Given the description of an element on the screen output the (x, y) to click on. 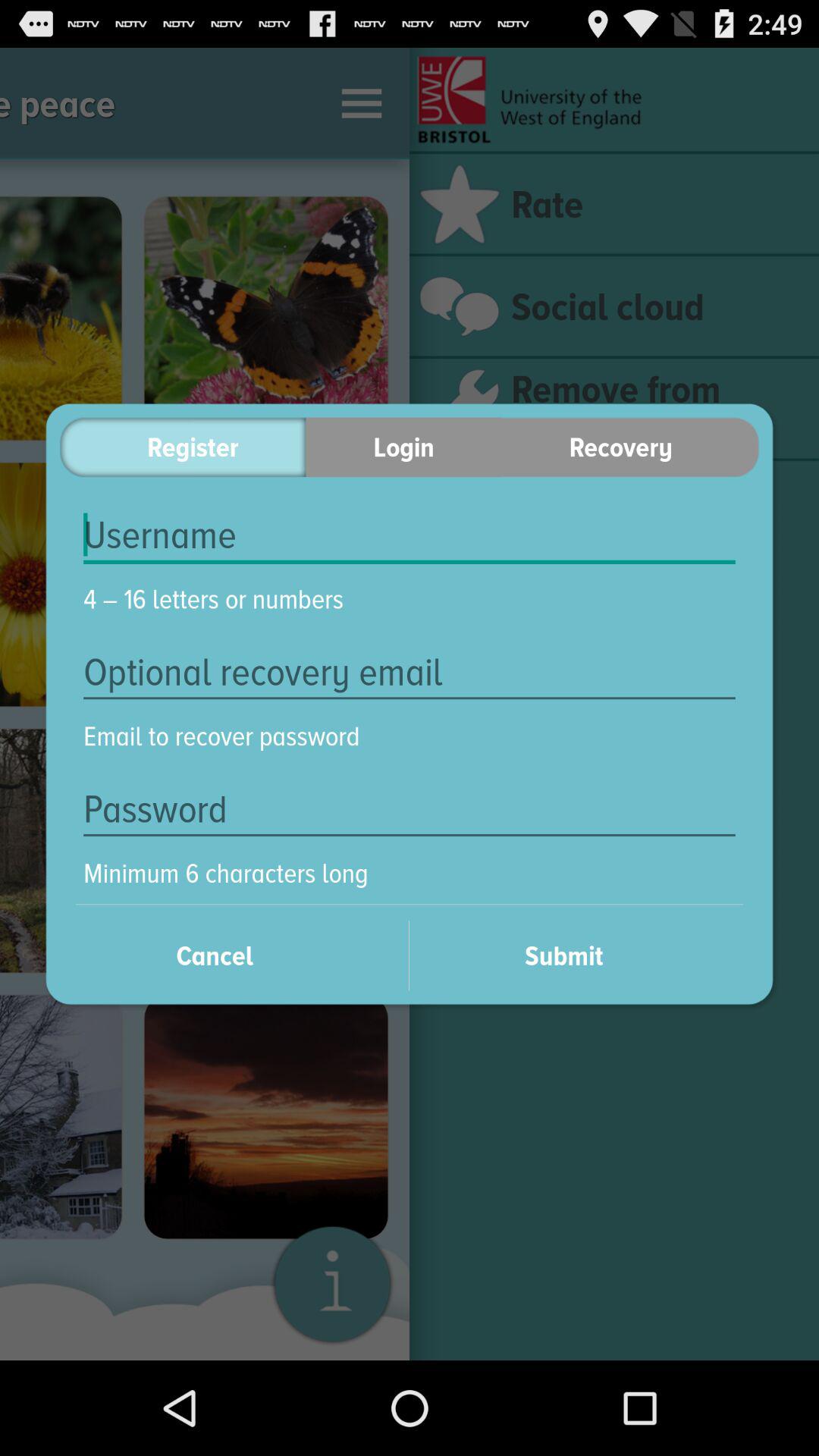
select item above 4 16 letters (409, 535)
